Given the description of an element on the screen output the (x, y) to click on. 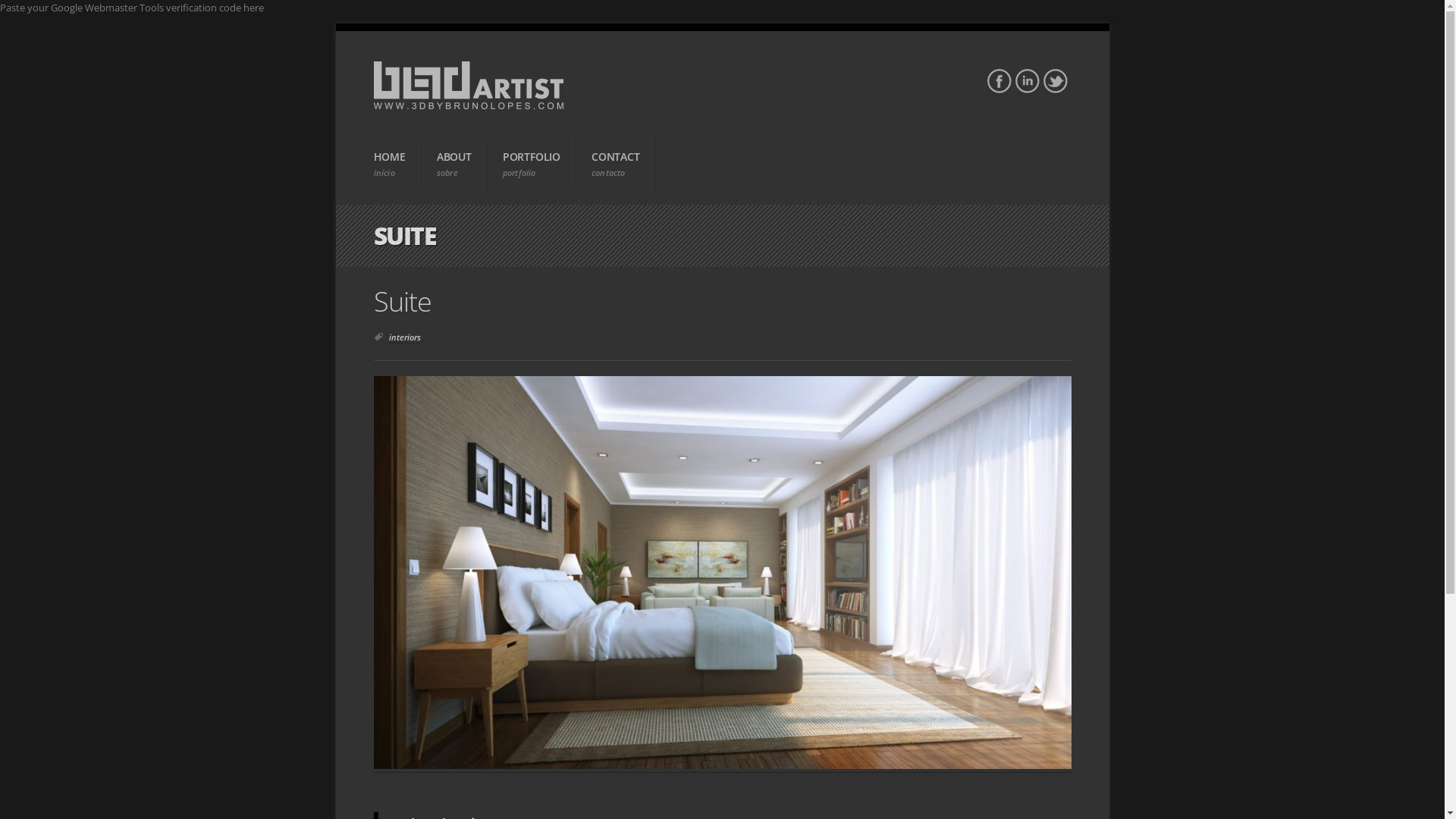
interiors Element type: text (404, 337)
PORTFOLIO
portfolio Element type: text (531, 164)
CONTACT
contacto Element type: text (615, 164)
ABOUT
sobre Element type: text (454, 164)
